Given the description of an element on the screen output the (x, y) to click on. 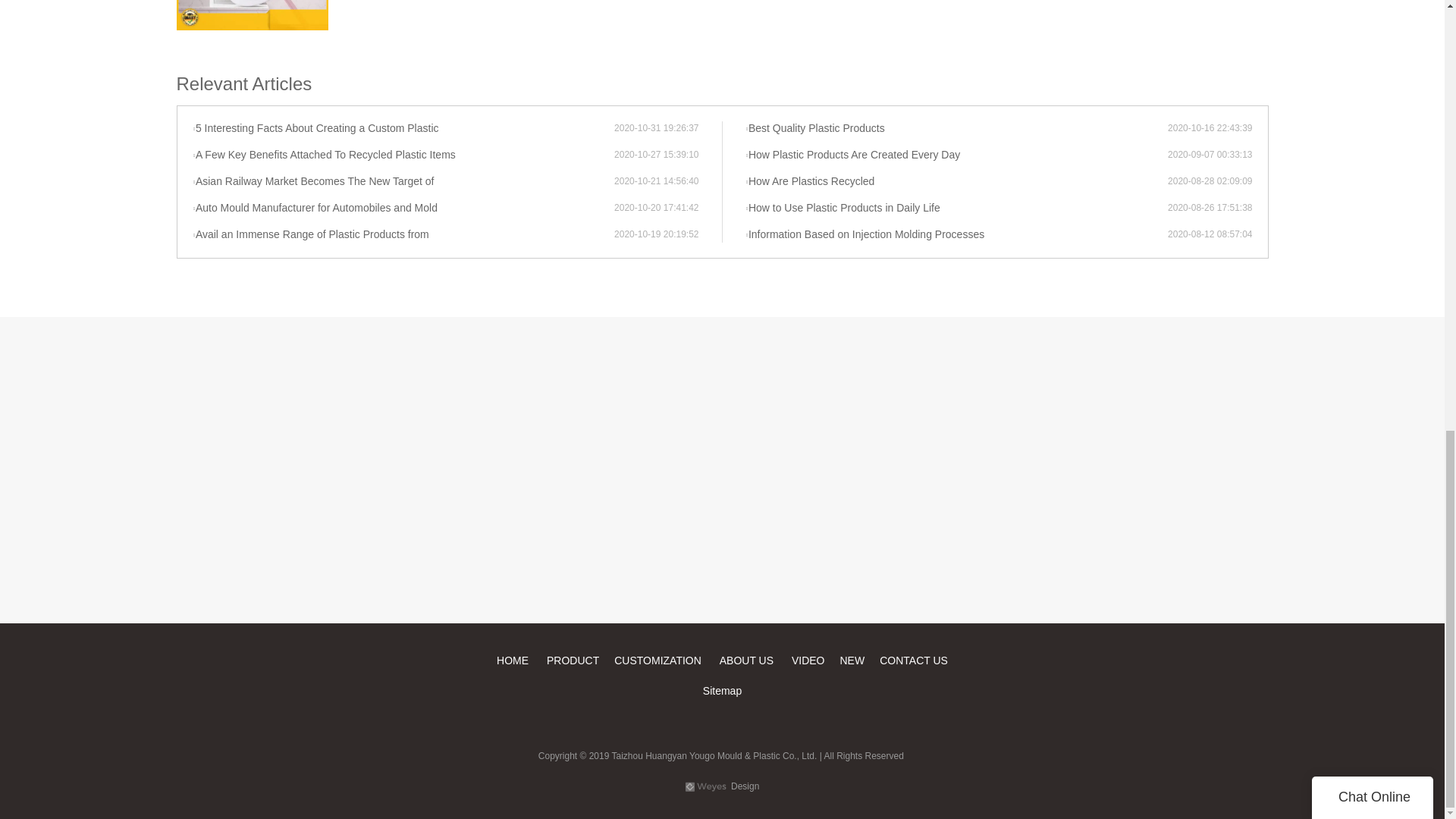
Asian Railway Market Becomes The New Target of (403, 181)
How Plastic Products Are Created Every Day (955, 155)
Avail an Immense Range of Plastic Products from (403, 234)
5 Interesting Facts About Creating a Custom Plastic (403, 128)
Best Quality Plastic Products (955, 128)
How to Use Plastic Products in Daily Life (955, 208)
Auto Mould Manufacturer for Automobiles and Mold (403, 208)
A Few Key Benefits Attached To Recycled Plastic Items (403, 155)
Information Based on Injection Molding Processes (955, 234)
How Are Plastics Recycled (955, 181)
